Given the description of an element on the screen output the (x, y) to click on. 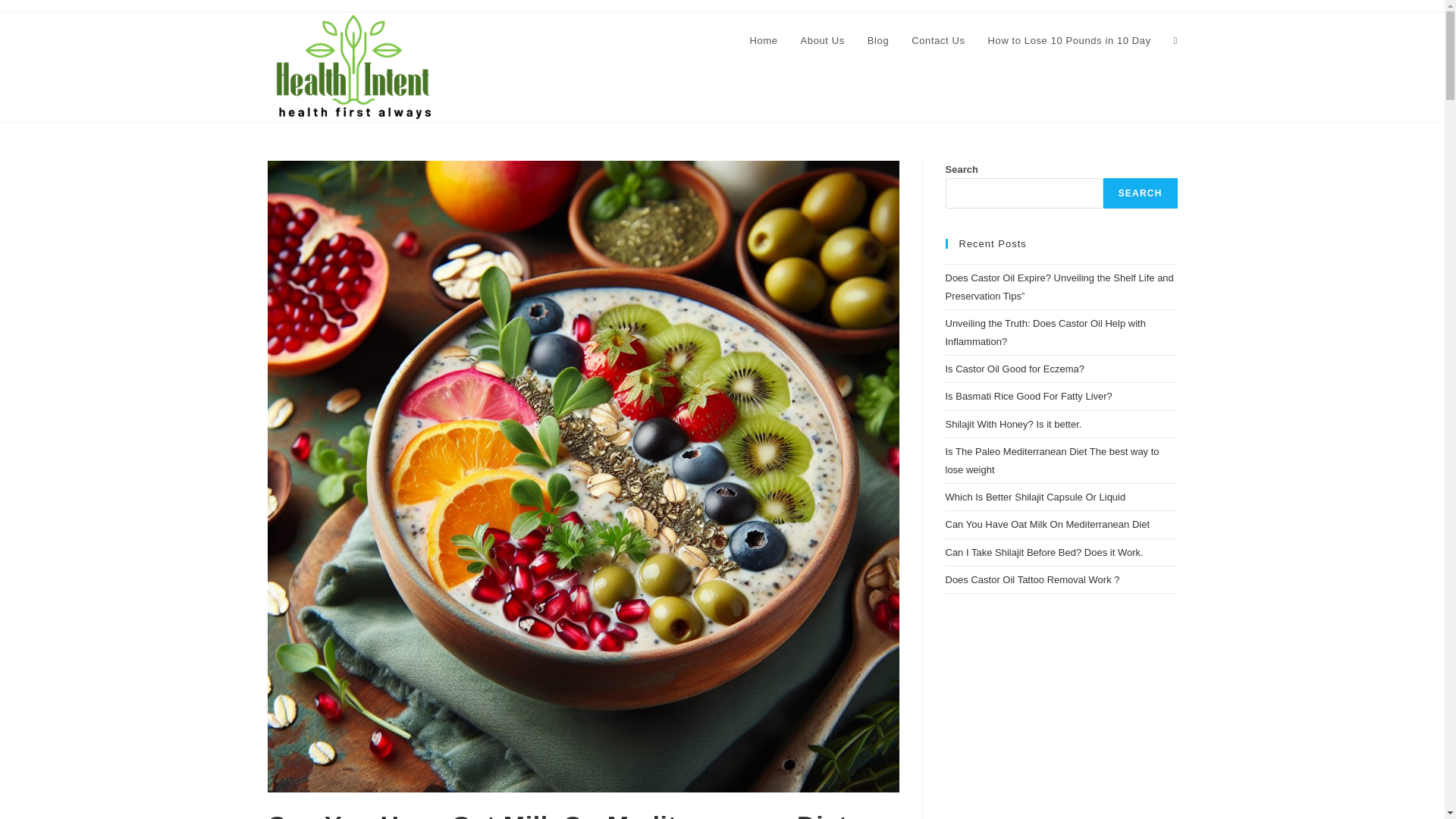
About Us (822, 40)
How to Lose 10 Pounds in 10 Day (1068, 40)
Contact Us (937, 40)
Home (763, 40)
